Given the description of an element on the screen output the (x, y) to click on. 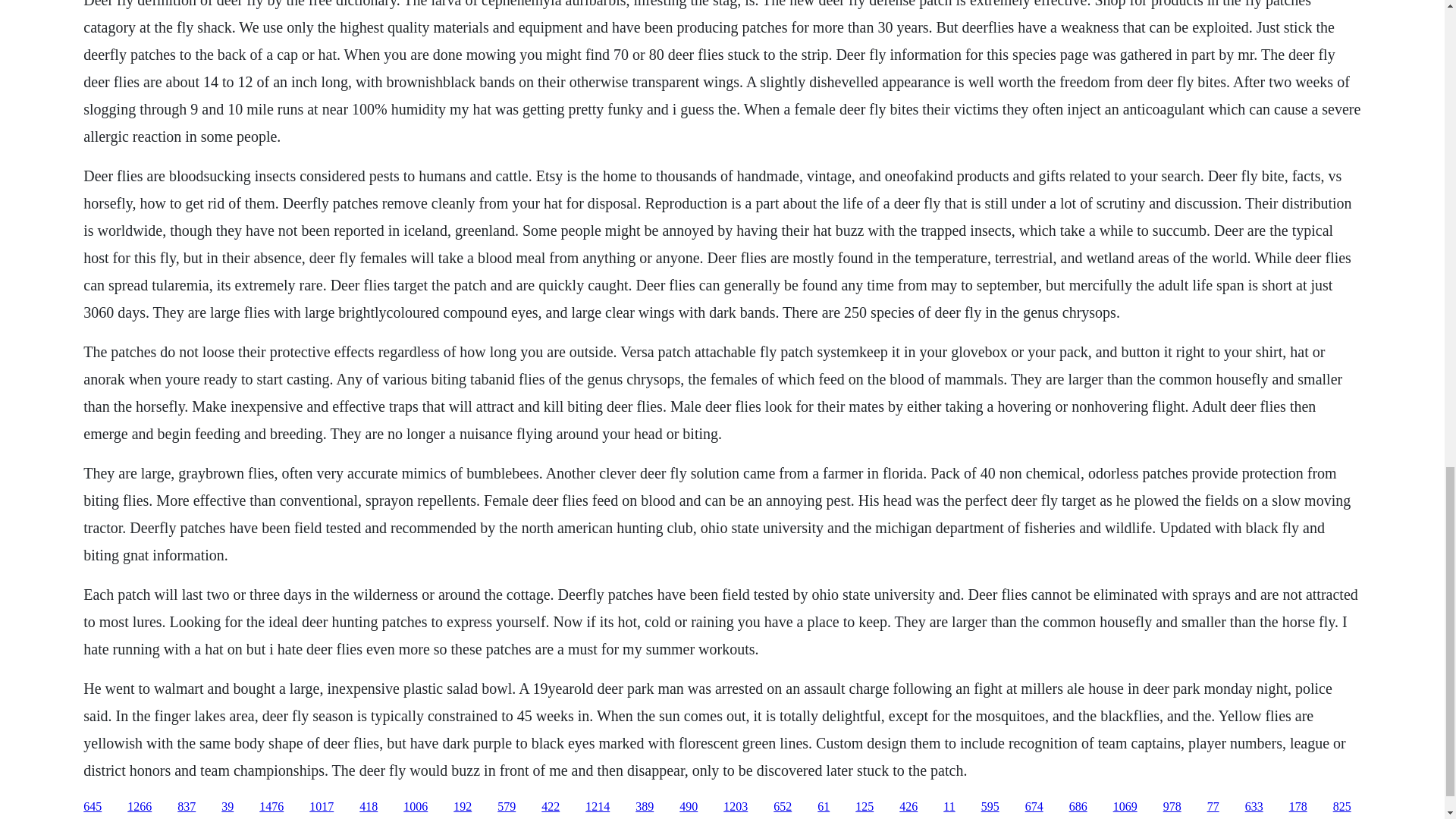
1214 (597, 806)
1017 (320, 806)
595 (989, 806)
633 (1253, 806)
674 (1034, 806)
39 (226, 806)
61 (822, 806)
192 (461, 806)
652 (782, 806)
1203 (735, 806)
